Given the description of an element on the screen output the (x, y) to click on. 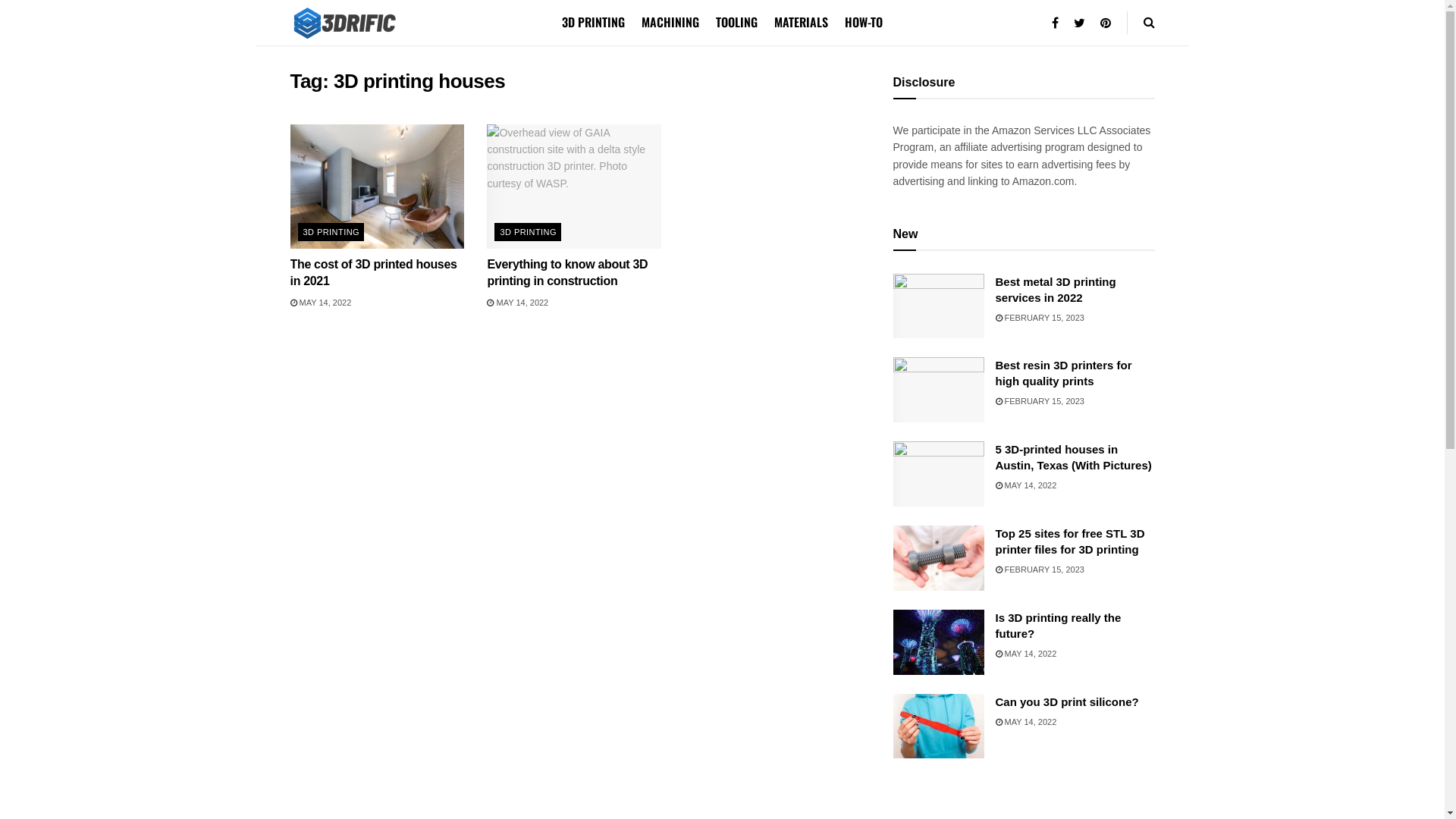
FEBRUARY 15, 2023 Element type: text (1038, 400)
3D PRINTING Element type: text (527, 231)
3D PRINTING Element type: text (592, 21)
Everything to know about 3D printing in construction Element type: text (566, 272)
FEBRUARY 15, 2023 Element type: text (1038, 317)
MAY 14, 2022 Element type: text (320, 302)
MAY 14, 2022 Element type: text (1025, 721)
The cost of 3D printed houses in 2021 Element type: text (372, 272)
TOOLING Element type: text (736, 21)
Can you 3D print silicone? Element type: text (1066, 701)
MATERIALS Element type: text (801, 21)
MAY 14, 2022 Element type: text (1025, 484)
Is 3D printing really the future? Element type: text (1057, 625)
MAY 14, 2022 Element type: text (1025, 653)
Best resin 3D printers for high quality prints Element type: text (1062, 372)
HOW-TO Element type: text (863, 21)
Top 25 sites for free STL 3D printer files for 3D printing Element type: text (1069, 541)
3D PRINTING Element type: text (330, 231)
MACHINING Element type: text (670, 21)
MAY 14, 2022 Element type: text (517, 302)
5 3D-printed houses in Austin, Texas (With Pictures) Element type: text (1072, 456)
Best metal 3D printing services in 2022 Element type: text (1054, 289)
FEBRUARY 15, 2023 Element type: text (1038, 569)
